Given the description of an element on the screen output the (x, y) to click on. 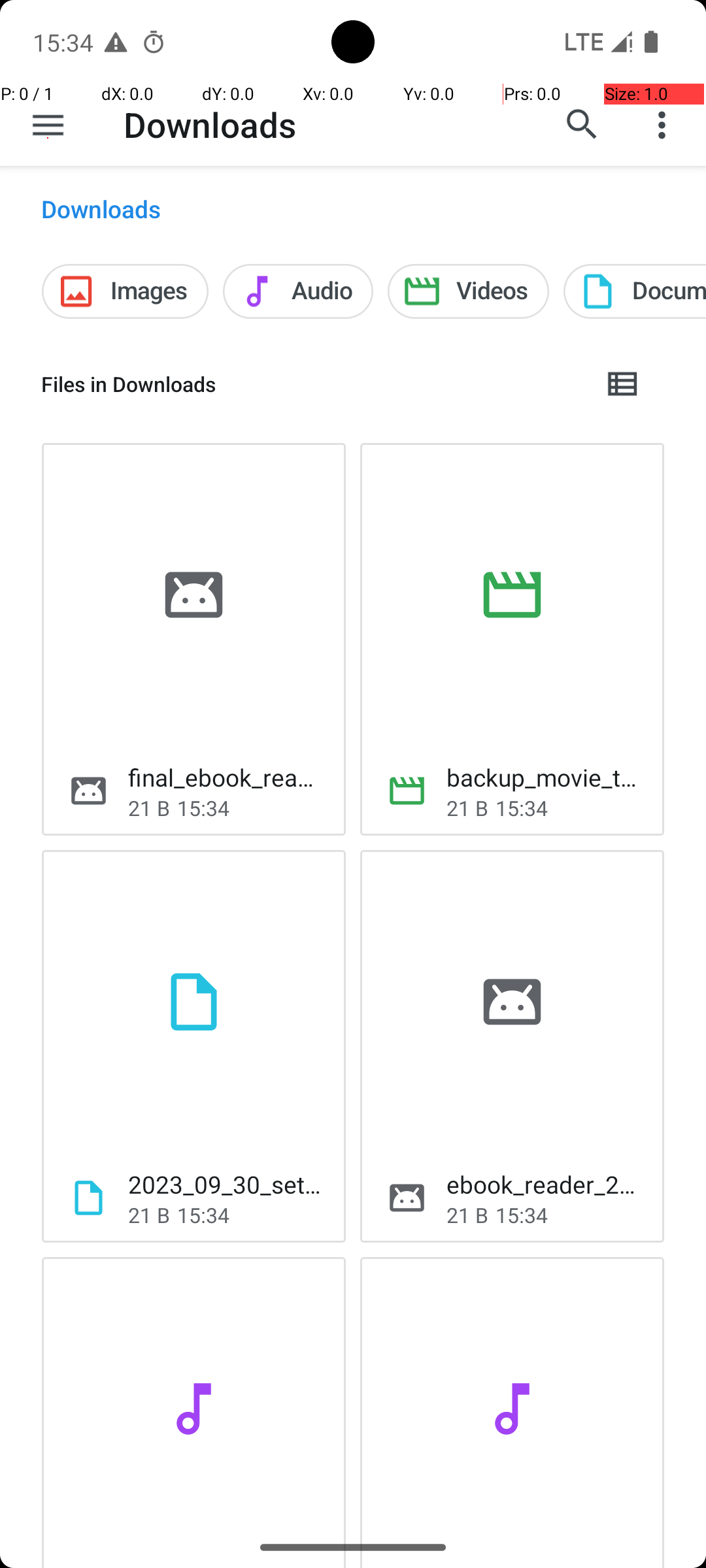
final_ebook_reader.apk Element type: android.widget.TextView (226, 776)
21 B Element type: android.widget.TextView (148, 807)
backup_movie_trailer.mp4 Element type: android.widget.TextView (544, 776)
2023_09_30_setup_exe.exe Element type: android.widget.TextView (226, 1183)
ebook_reader_2023_07_15.apk Element type: android.widget.TextView (544, 1183)
